Given the description of an element on the screen output the (x, y) to click on. 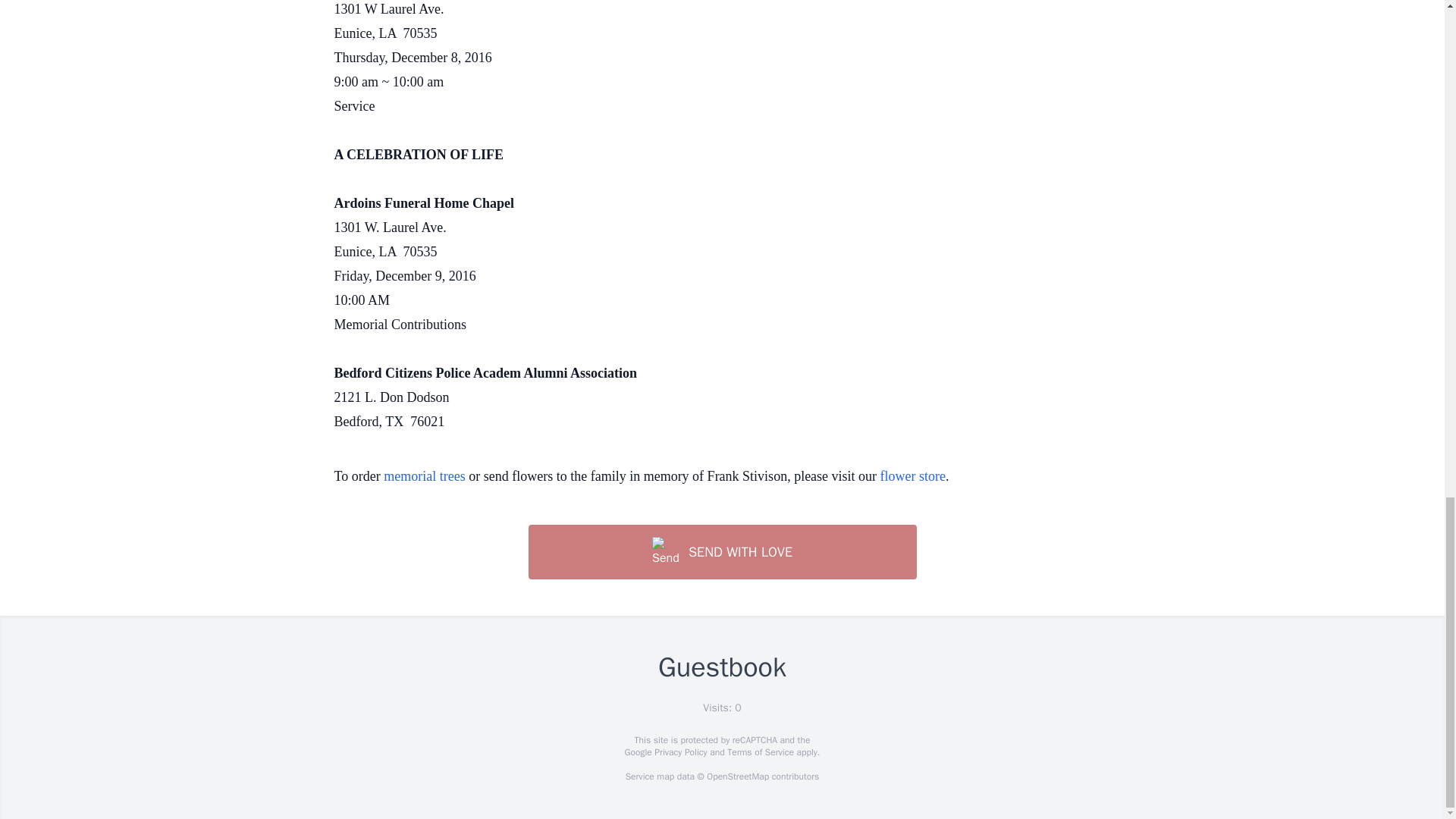
OpenStreetMap (737, 776)
flower store (912, 476)
SEND WITH LOVE (721, 551)
memorial trees (424, 476)
Terms of Service (759, 752)
Privacy Policy (679, 752)
